Given the description of an element on the screen output the (x, y) to click on. 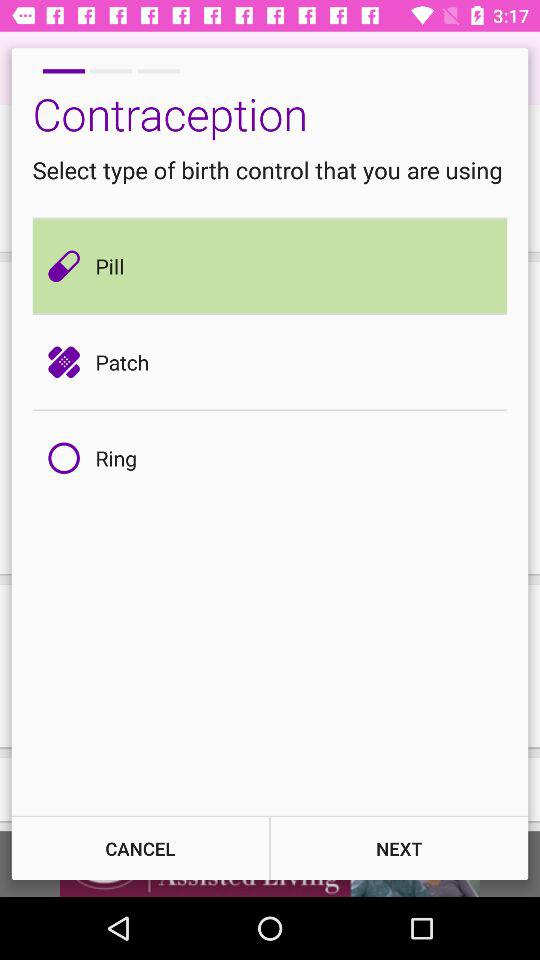
swipe to the cancel (140, 848)
